Given the description of an element on the screen output the (x, y) to click on. 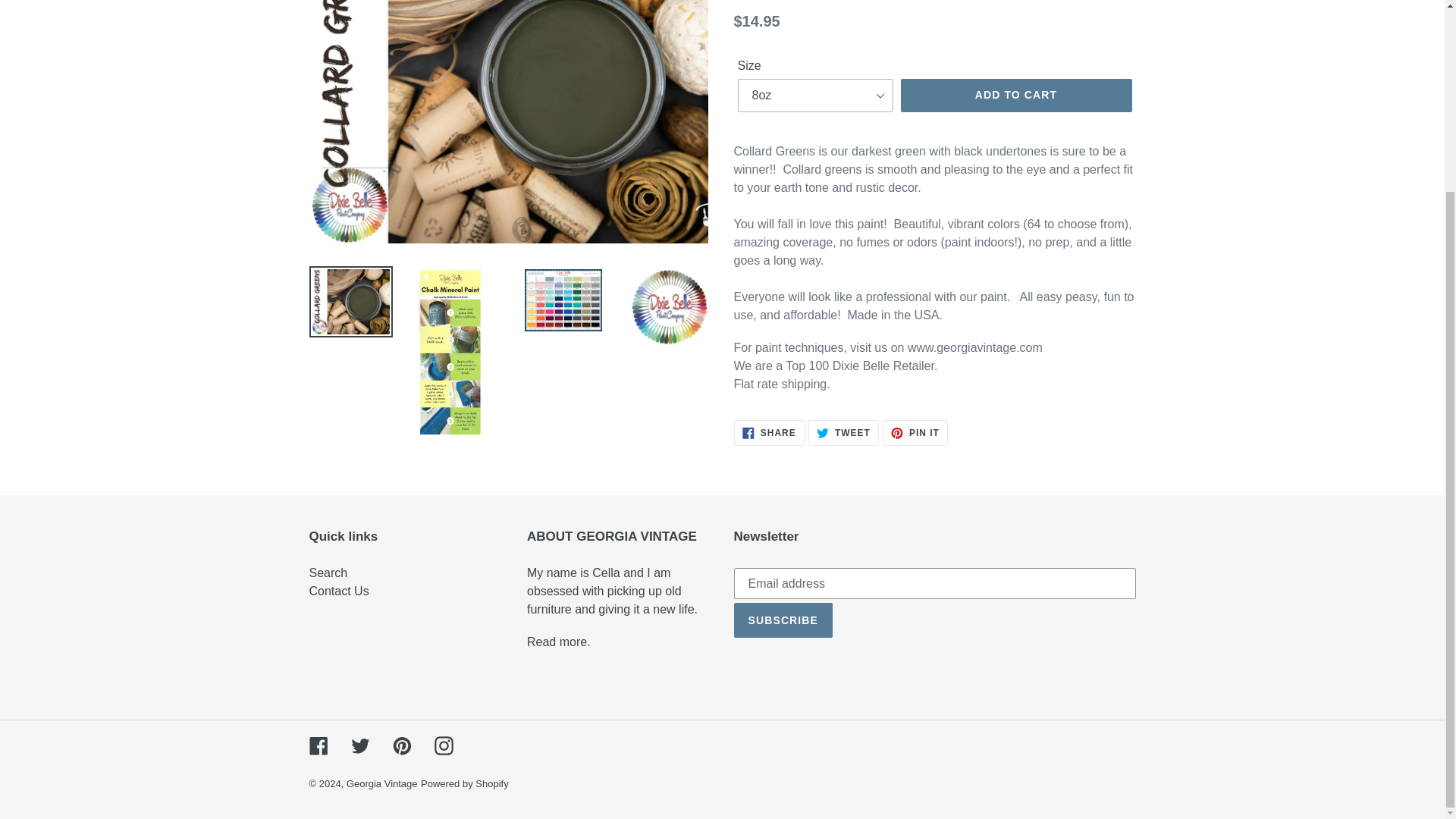
ADD TO CART (1016, 95)
About Us (769, 432)
